Given the description of an element on the screen output the (x, y) to click on. 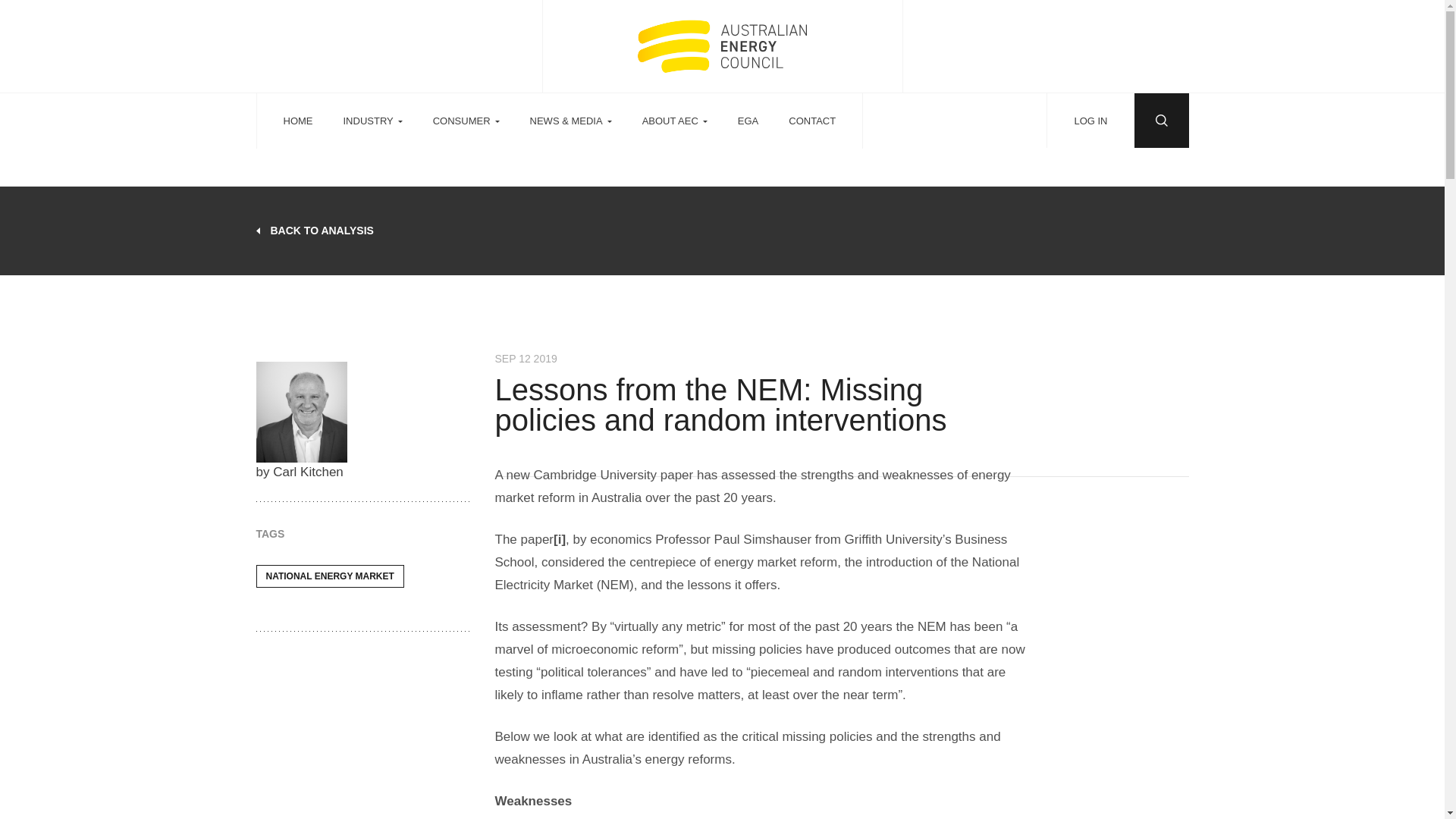
CONSUMER (466, 120)
HOME (298, 120)
ABOUT AEC (674, 120)
INDUSTRY (371, 120)
